Given the description of an element on the screen output the (x, y) to click on. 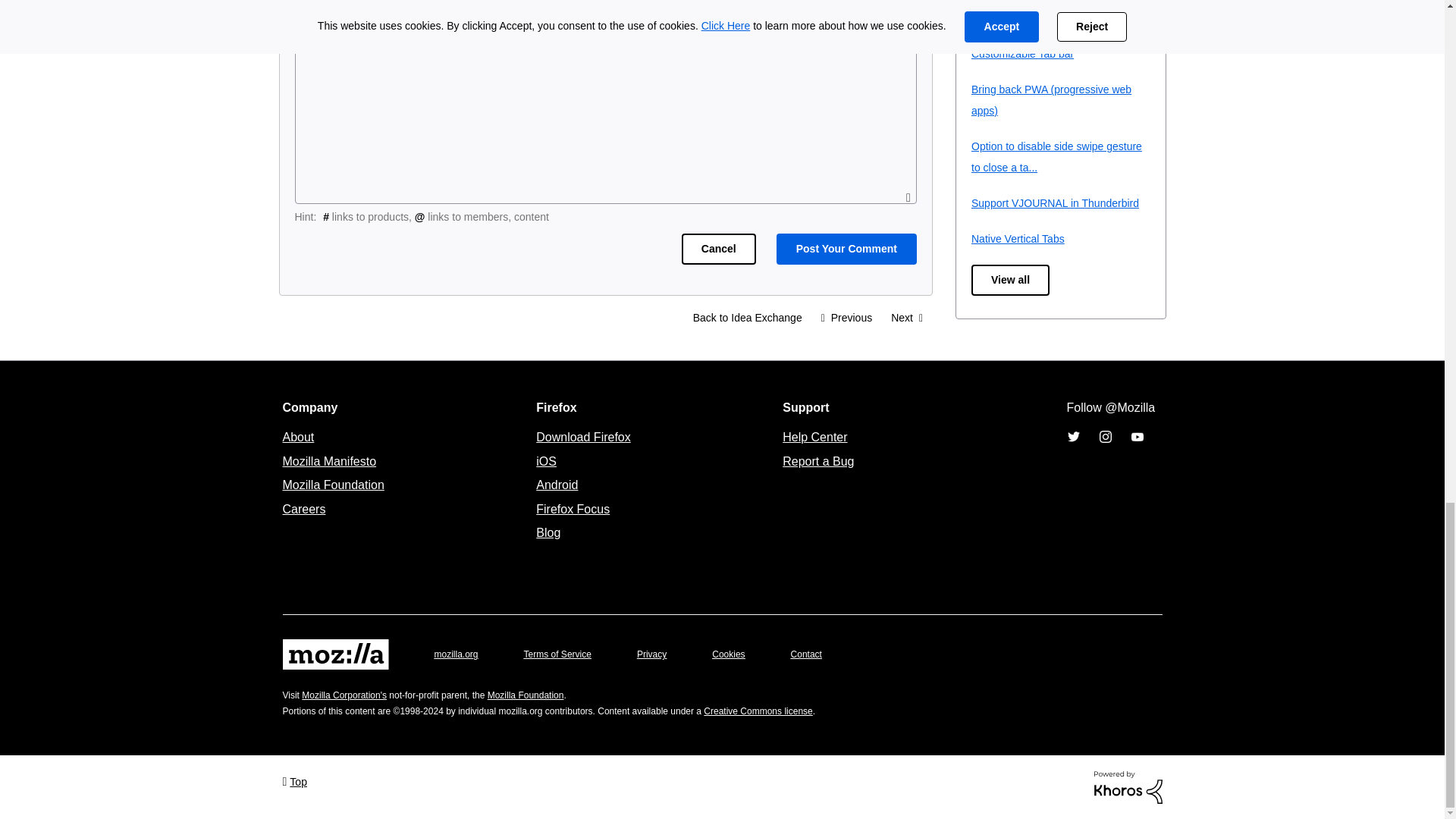
Cancel (718, 248)
Post Your Comment (846, 248)
Top (293, 780)
Top (293, 780)
